Given the description of an element on the screen output the (x, y) to click on. 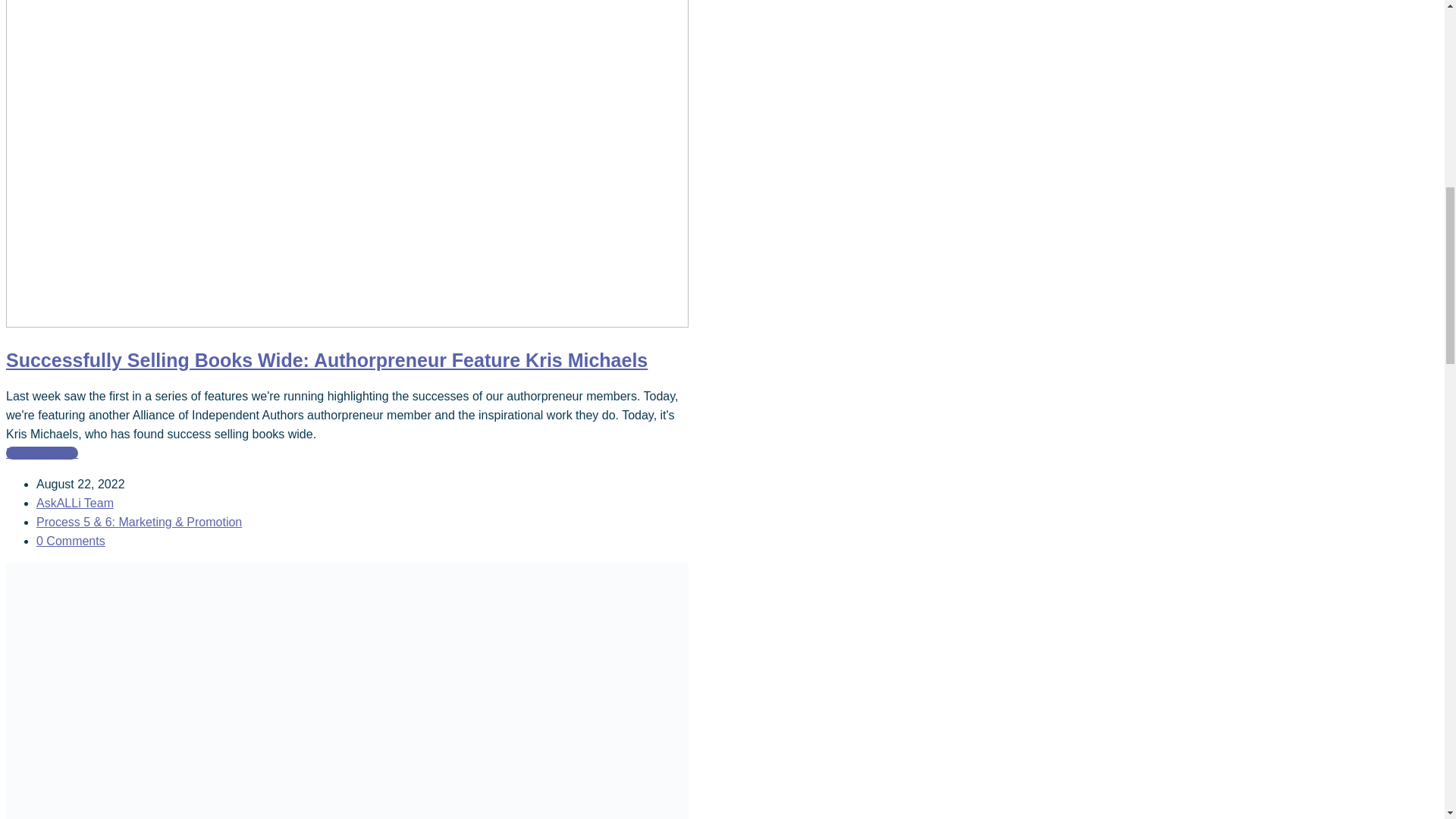
0 Comments (358, 540)
Posts by AskALLi Team (74, 502)
